Given the description of an element on the screen output the (x, y) to click on. 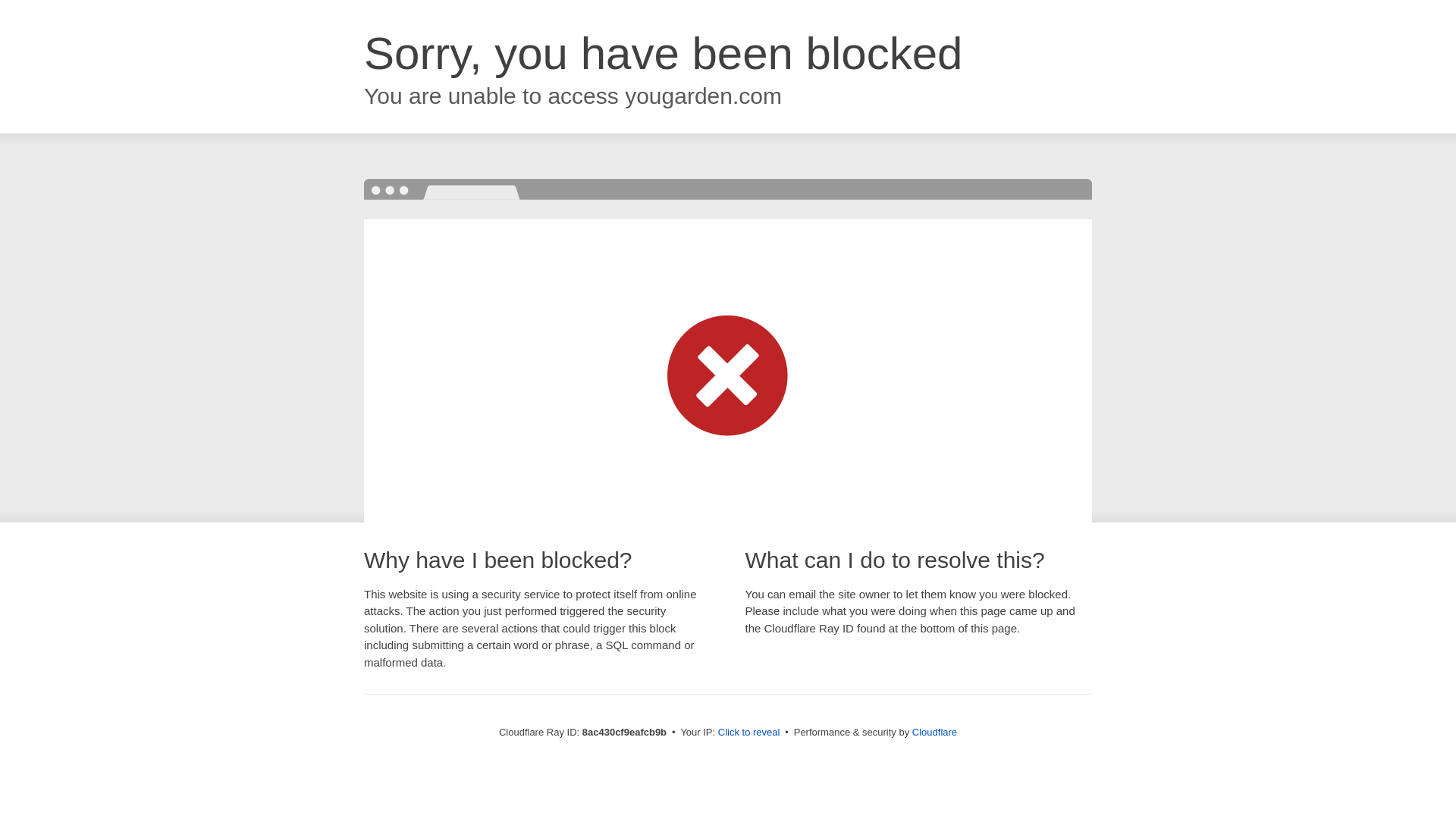
Cloudflare (934, 731)
Click to reveal (748, 732)
